Given the description of an element on the screen output the (x, y) to click on. 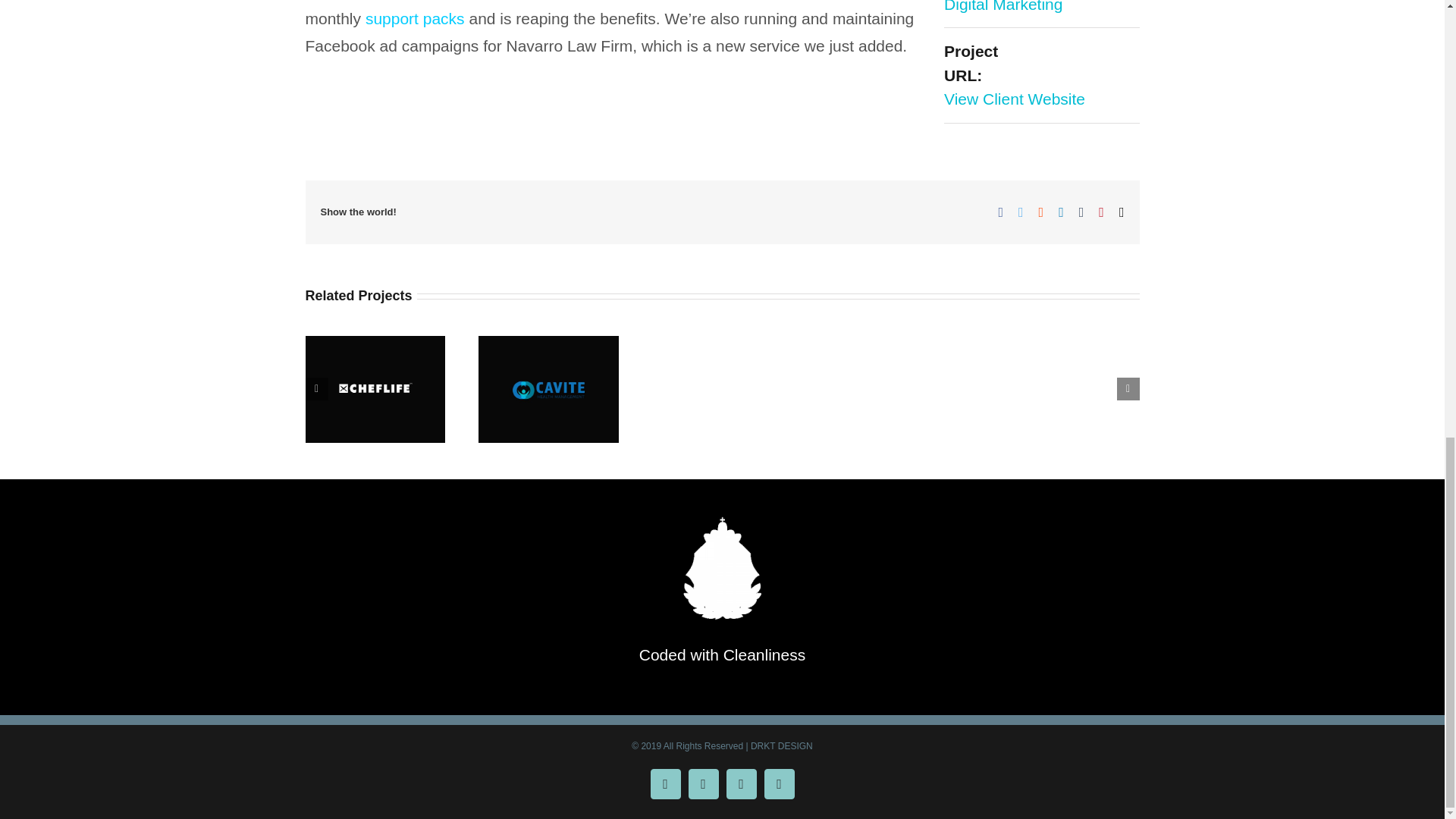
Twitter (779, 784)
Digital Marketing (1002, 6)
Instagram (703, 784)
Facebook (665, 784)
Pinterest (741, 784)
support packs (414, 18)
View Client Website (1013, 98)
